Given the description of an element on the screen output the (x, y) to click on. 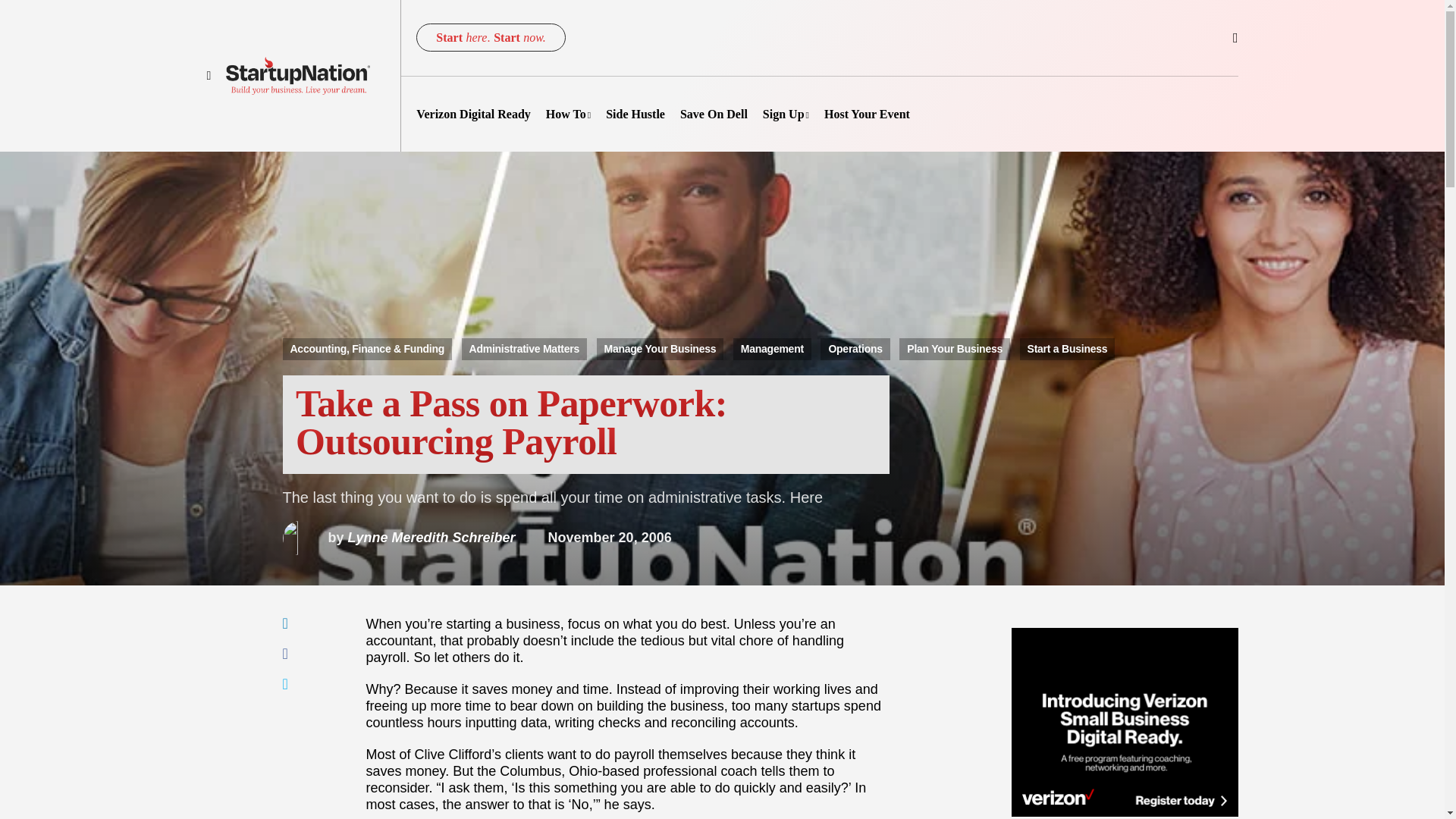
View all posts by Lynne Meredith Schreiber (398, 537)
